Given the description of an element on the screen output the (x, y) to click on. 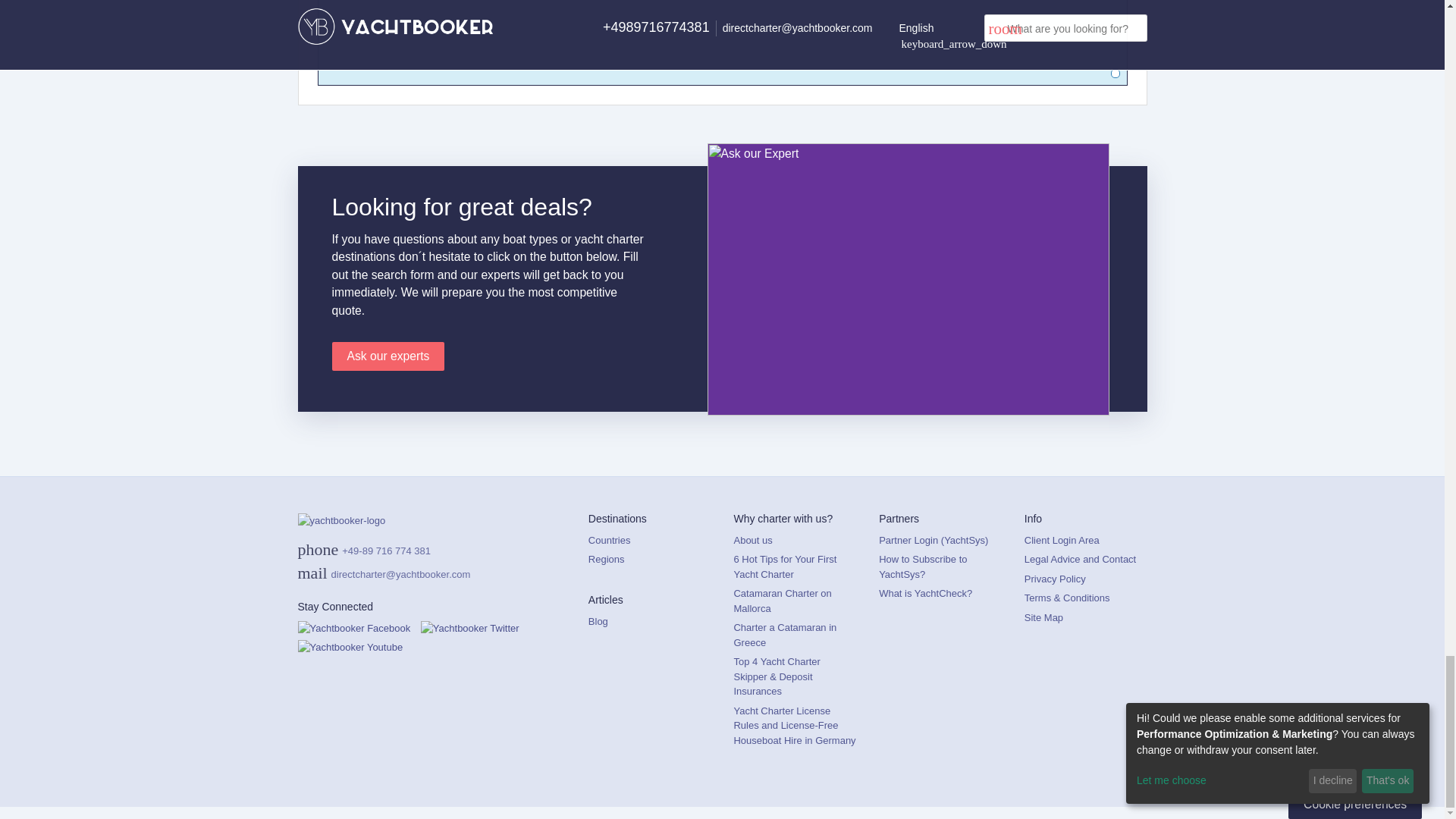
Ask our experts (388, 356)
